Given the description of an element on the screen output the (x, y) to click on. 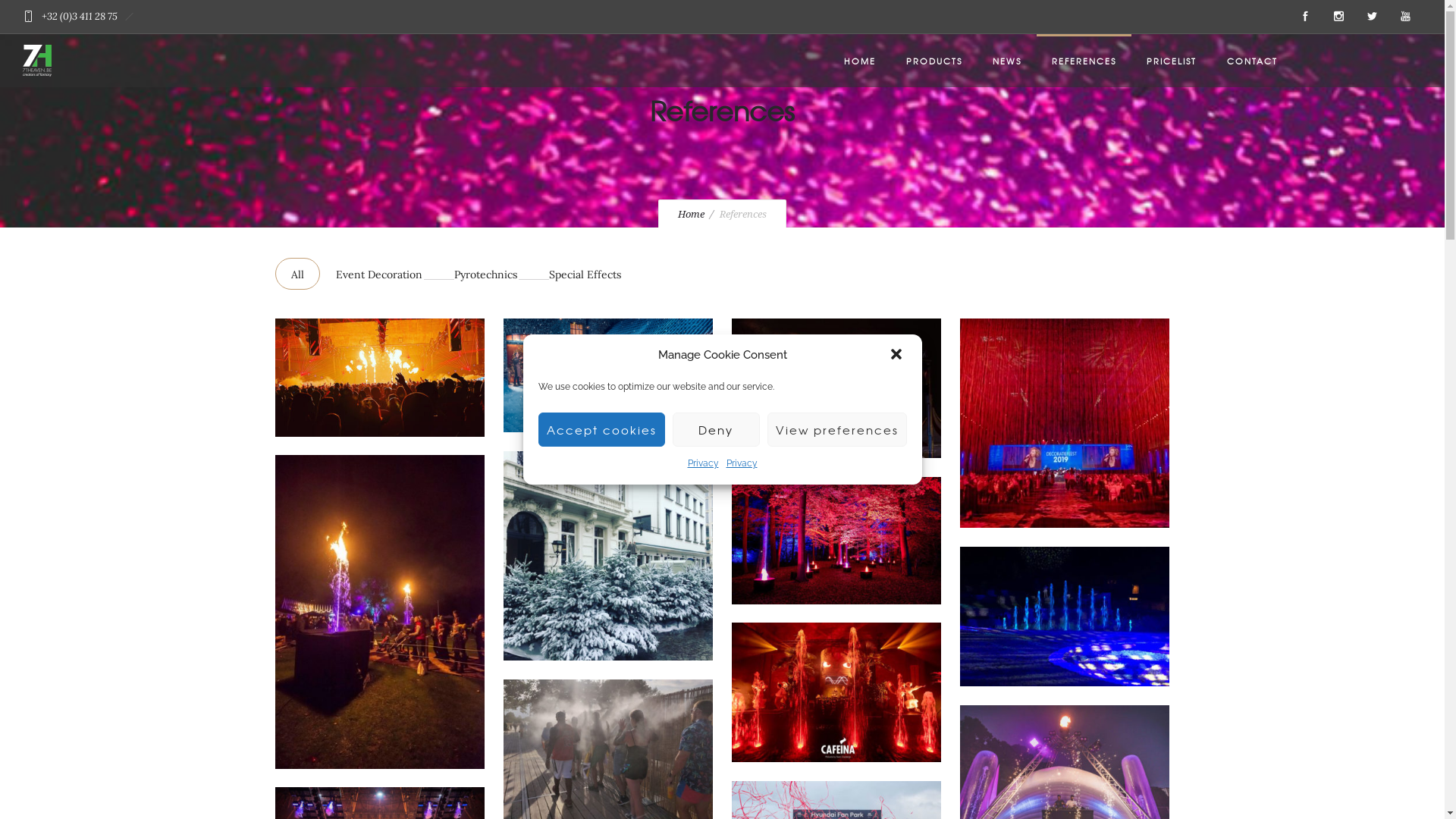
NEWS Element type: text (1006, 60)
Home Element type: text (690, 213)
YouTube Element type: hover (1404, 16)
Event Decoration Element type: text (379, 273)
Instagram Element type: hover (1338, 16)
CONTACT Element type: text (1251, 60)
Privacy Element type: text (741, 463)
Special Effects Element type: text (584, 273)
REFERENCES Element type: text (1083, 60)
HOME Element type: text (859, 60)
View preferences Element type: text (836, 429)
Deny Element type: text (715, 429)
Privacy Element type: text (702, 463)
Pyrotechnics Element type: text (485, 273)
Facebook Element type: hover (1304, 16)
All Element type: text (296, 273)
Twitter Element type: hover (1371, 16)
PRICELIST Element type: text (1171, 60)
Accept cookies Element type: text (601, 429)
PRODUCTS Element type: text (934, 60)
